Given the description of an element on the screen output the (x, y) to click on. 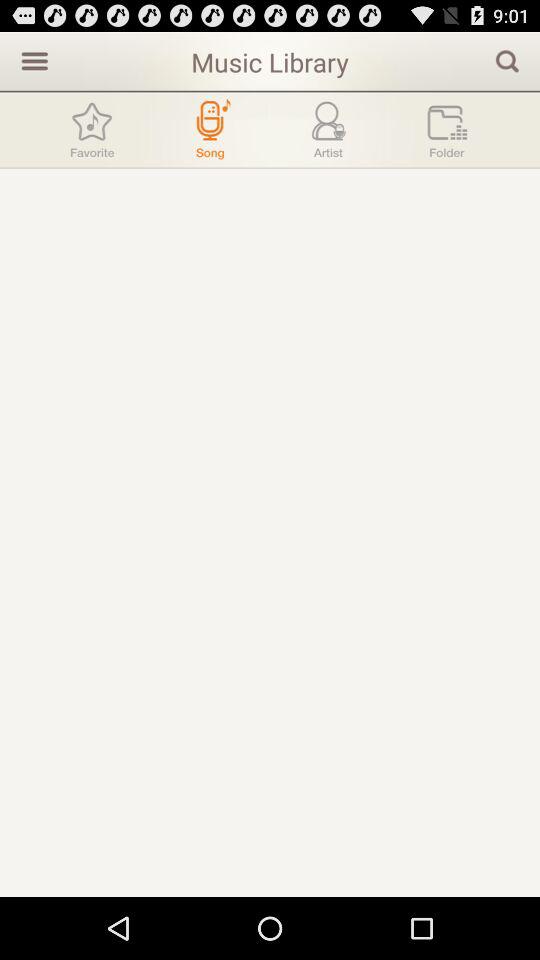
go to favorites (92, 129)
